Given the description of an element on the screen output the (x, y) to click on. 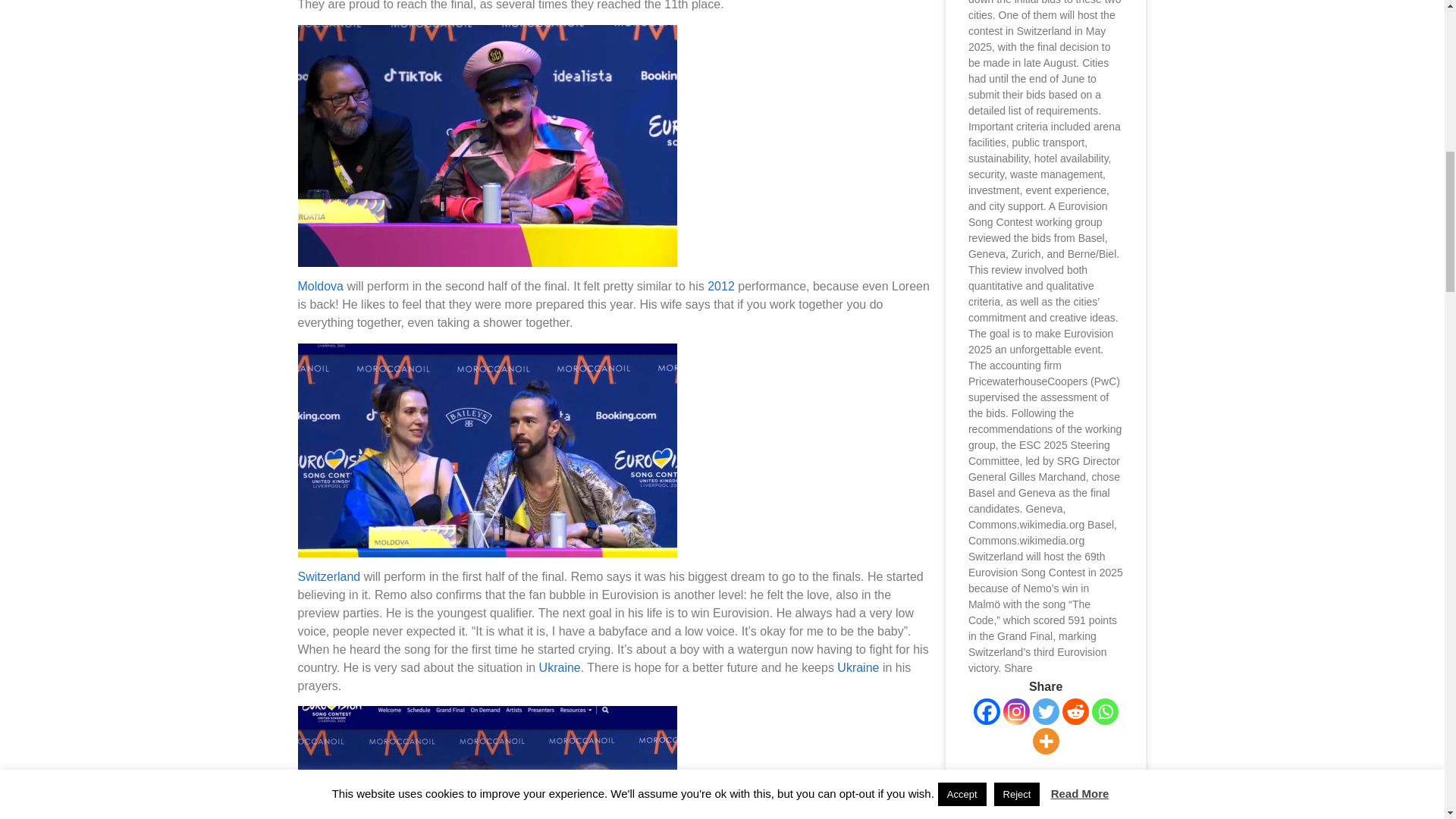
Switzerland (328, 576)
Ukraine (559, 667)
Moldova (319, 286)
2012 (721, 286)
Ukraine (858, 667)
